Given the description of an element on the screen output the (x, y) to click on. 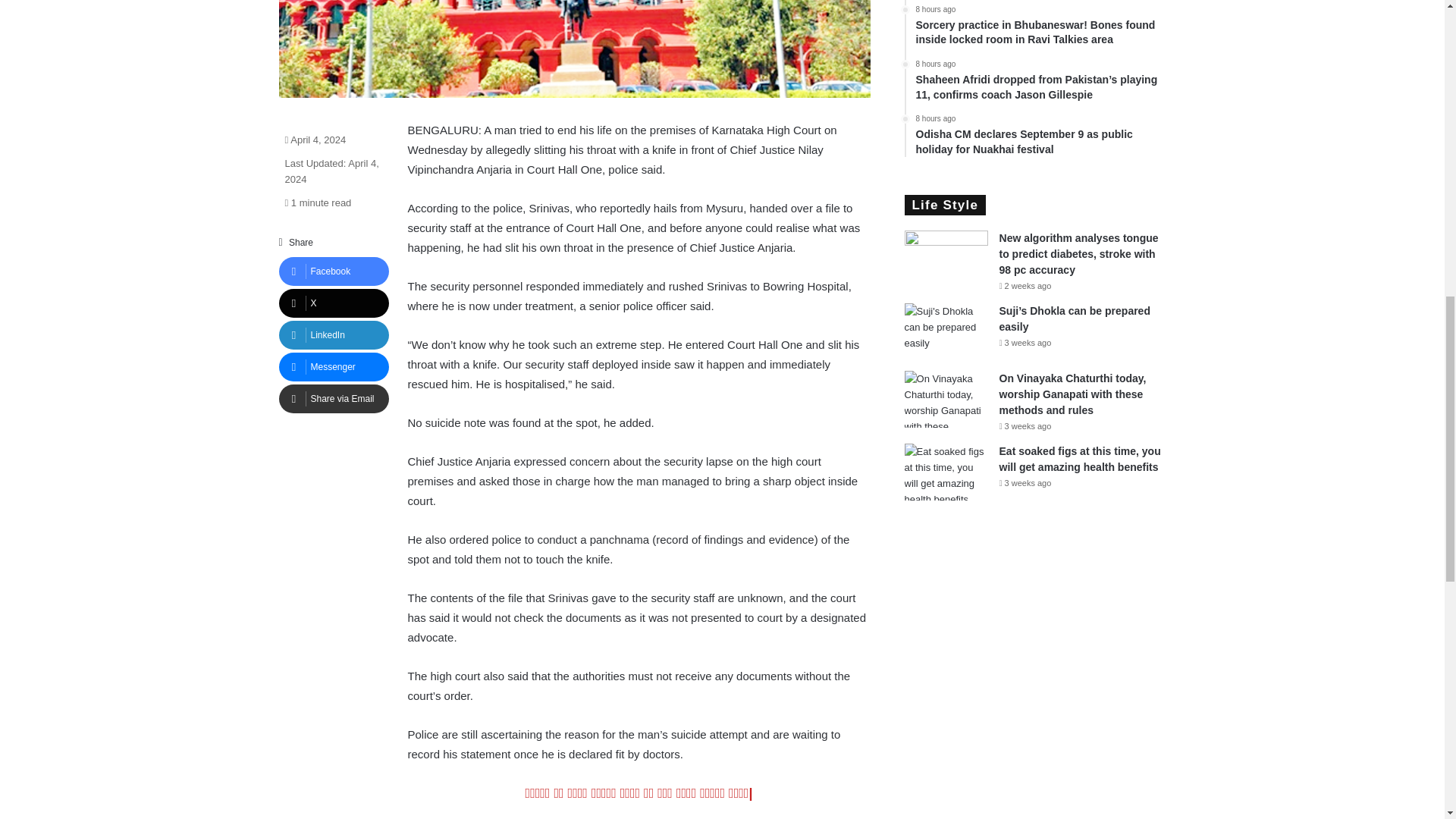
Messenger (333, 366)
X (333, 303)
LinkedIn (333, 335)
Facebook (333, 271)
